Given the description of an element on the screen output the (x, y) to click on. 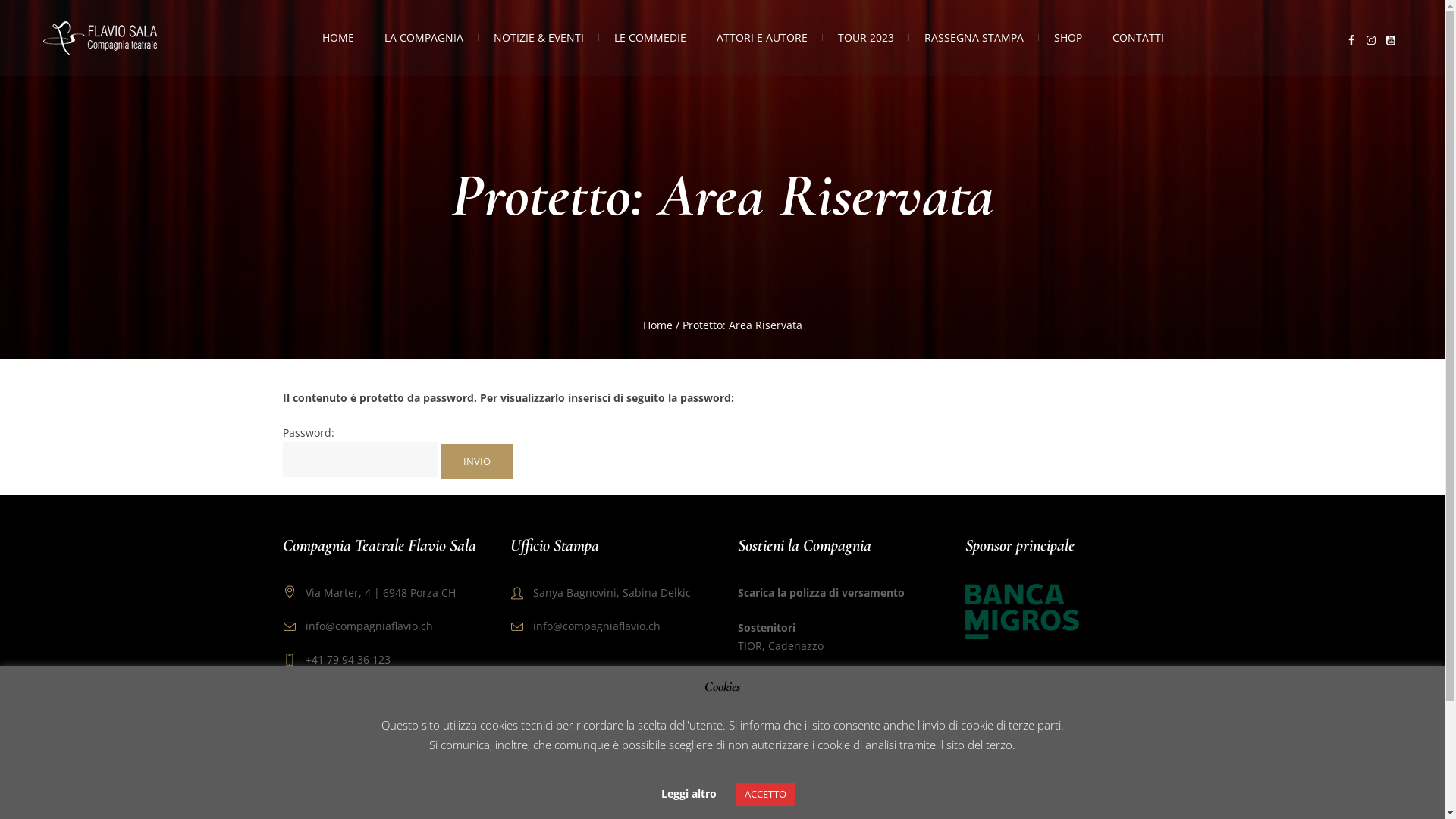
RASSEGNA STAMPA Element type: text (973, 37)
Scarica la polizza di versamento Element type: text (820, 592)
Home Element type: text (657, 324)
TOUR 2023 Element type: text (865, 37)
HOME Element type: text (337, 37)
Facebook Element type: hover (693, 781)
NOTIZIE & EVENTI Element type: text (537, 37)
Leggi altro Element type: text (688, 793)
info@compagniaflavio.ch Element type: text (369, 625)
Facebook Element type: hover (1350, 39)
ACCETTO Element type: text (765, 794)
LE COMMEDIE Element type: text (650, 37)
Instagram Element type: hover (1370, 39)
LA COMPAGNIA Element type: text (422, 37)
ATTORI E AUTORE Element type: text (761, 37)
CONTATTI Element type: text (1137, 37)
SHOP Element type: text (1067, 37)
info@compagniaflavio.ch Element type: text (596, 625)
Instagram Element type: hover (721, 781)
Invio Element type: text (475, 460)
